Given the description of an element on the screen output the (x, y) to click on. 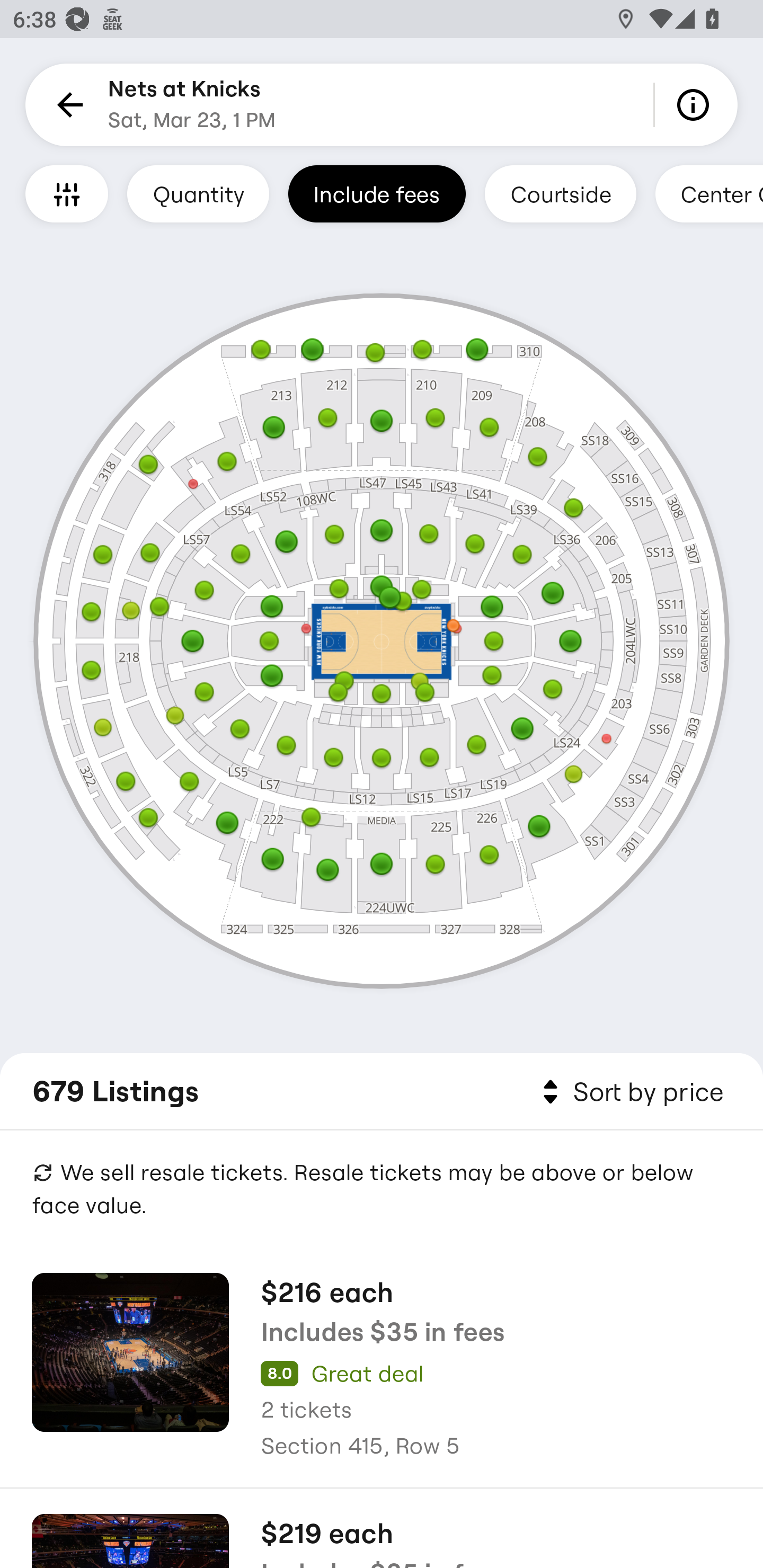
Back Nets at Knicks Sat, Mar 23, 1 PM Info (381, 104)
Back (66, 104)
Nets at Knicks Sat, Mar 23, 1 PM (192, 104)
Info (695, 104)
Filters and Accessible Seating (66, 193)
Quantity (198, 193)
Include fees (376, 193)
Courtside (560, 193)
Center Court (709, 193)
Sort by price (629, 1091)
